Given the description of an element on the screen output the (x, y) to click on. 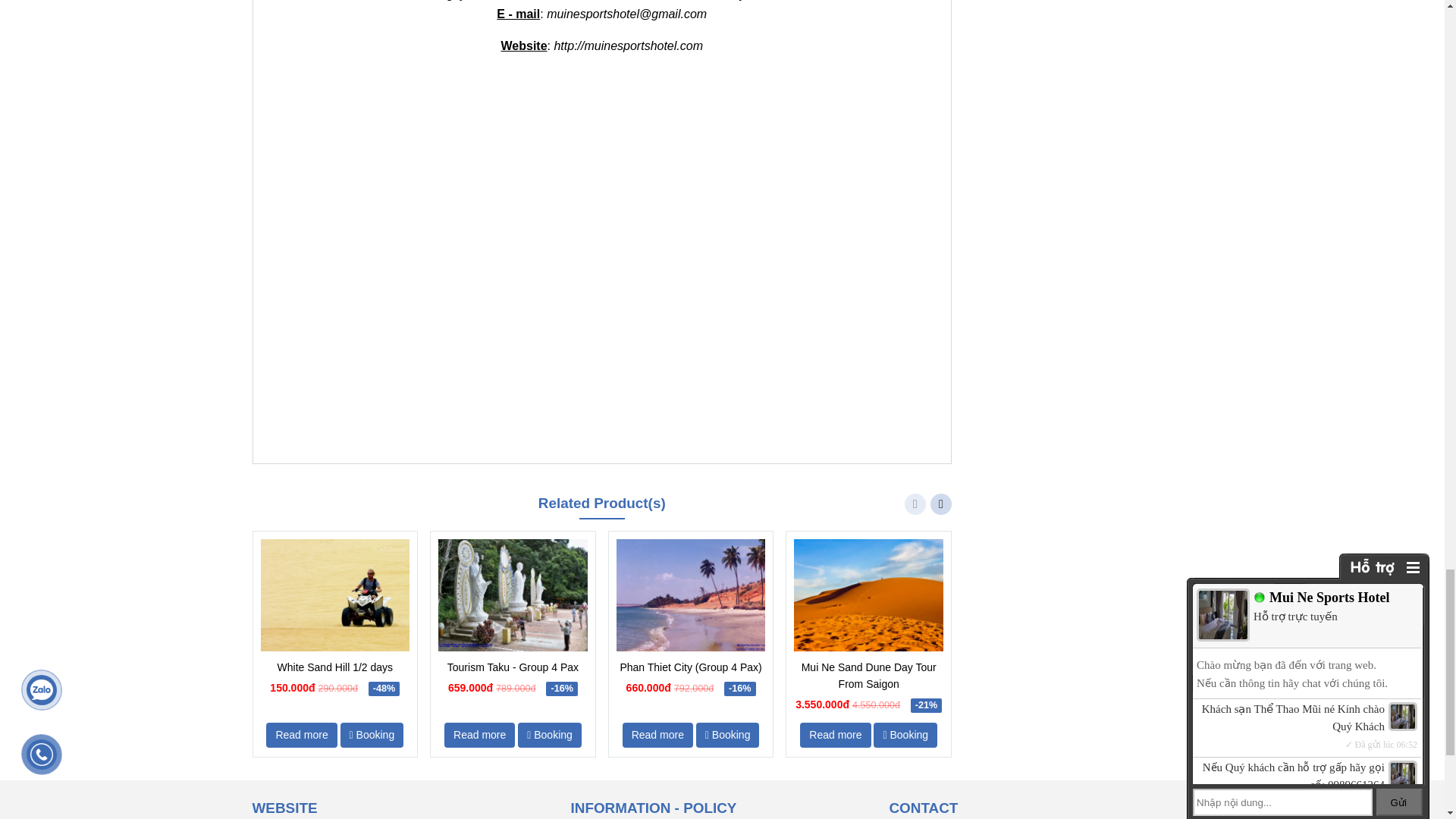
Read more (479, 734)
Tourism Taku - Group 4 Pax (513, 667)
Read more (834, 734)
Read more (301, 734)
Mui Ne Sand Dune Day Tour From Saigon (868, 675)
Read more (658, 734)
